Given the description of an element on the screen output the (x, y) to click on. 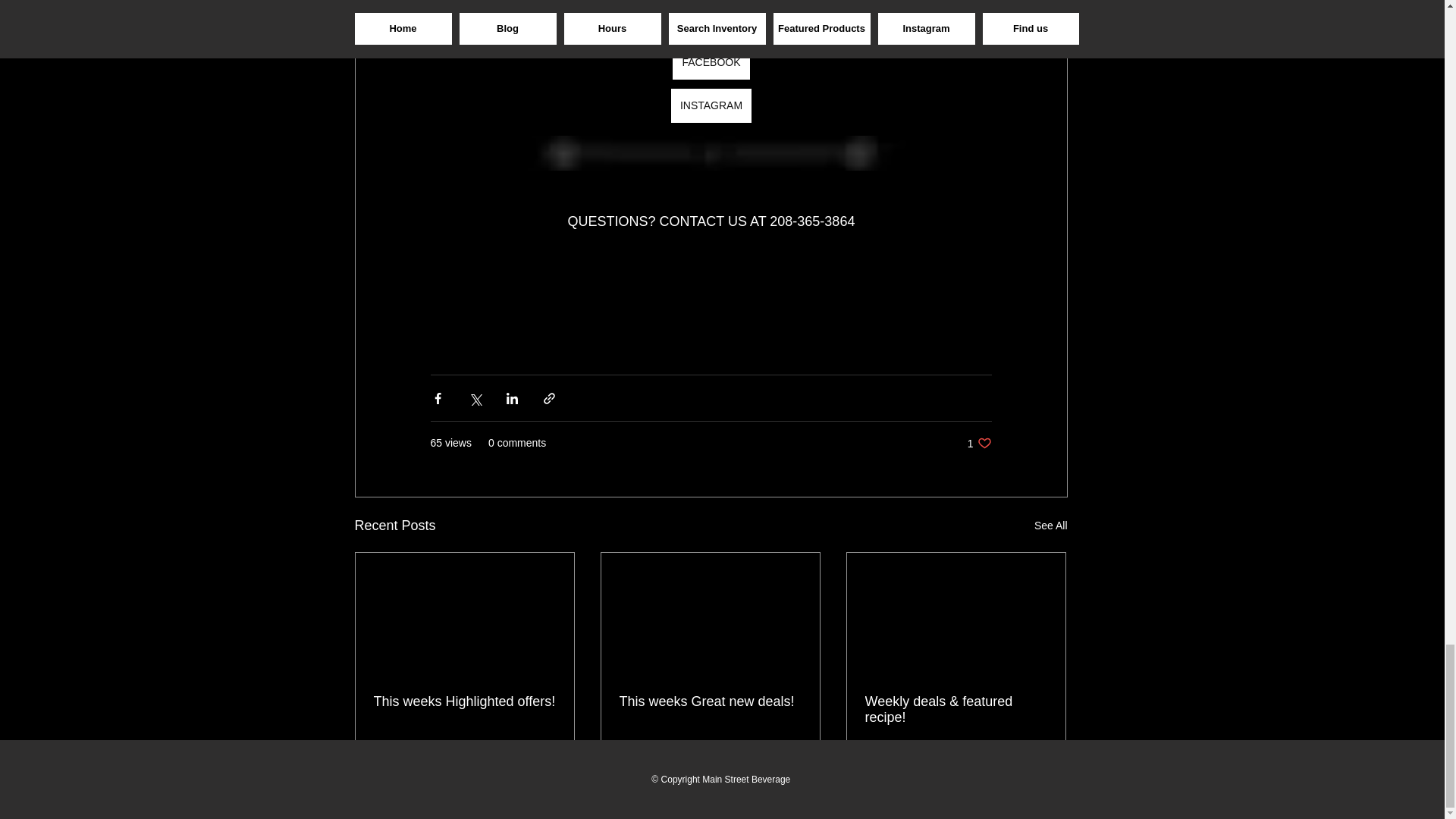
See All (1050, 526)
0 (669, 762)
FACEBOOK (710, 62)
Post not marked as liked (548, 763)
Post not marked as liked (1039, 763)
0 (979, 442)
This weeks Great new deals! (915, 762)
This weeks Highlighted offers! (709, 701)
0 (463, 701)
Post not marked as liked (423, 762)
INSTAGRAM (794, 763)
